Given the description of an element on the screen output the (x, y) to click on. 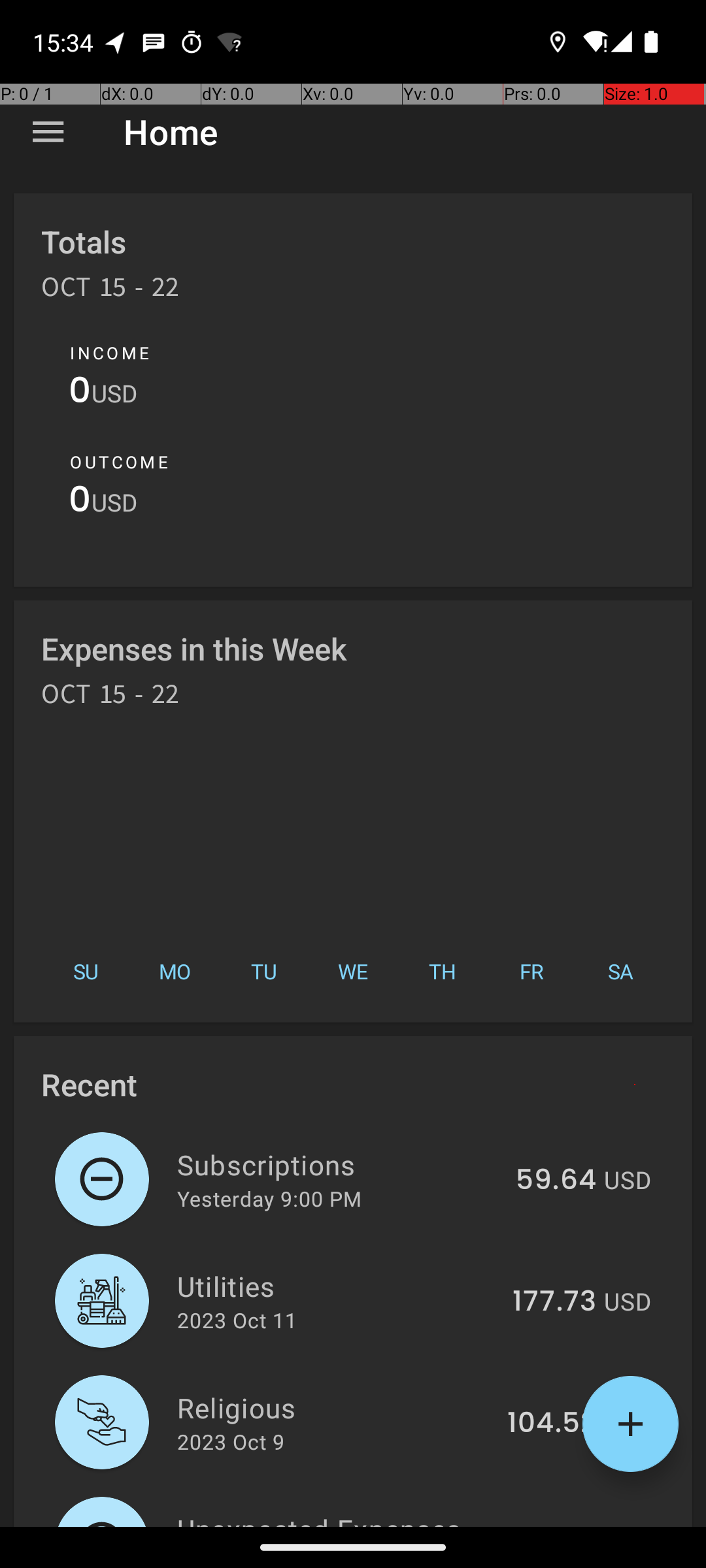
Yesterday 9:00 PM Element type: android.widget.TextView (269, 1198)
59.64 Element type: android.widget.TextView (555, 1180)
Utilities Element type: android.widget.TextView (337, 1285)
177.73 Element type: android.widget.TextView (553, 1301)
Religious Element type: android.widget.TextView (334, 1407)
104.52 Element type: android.widget.TextView (551, 1423)
Unexpected Expenses Element type: android.widget.TextView (334, 1518)
175.55 Element type: android.widget.TextView (551, 1524)
